Given the description of an element on the screen output the (x, y) to click on. 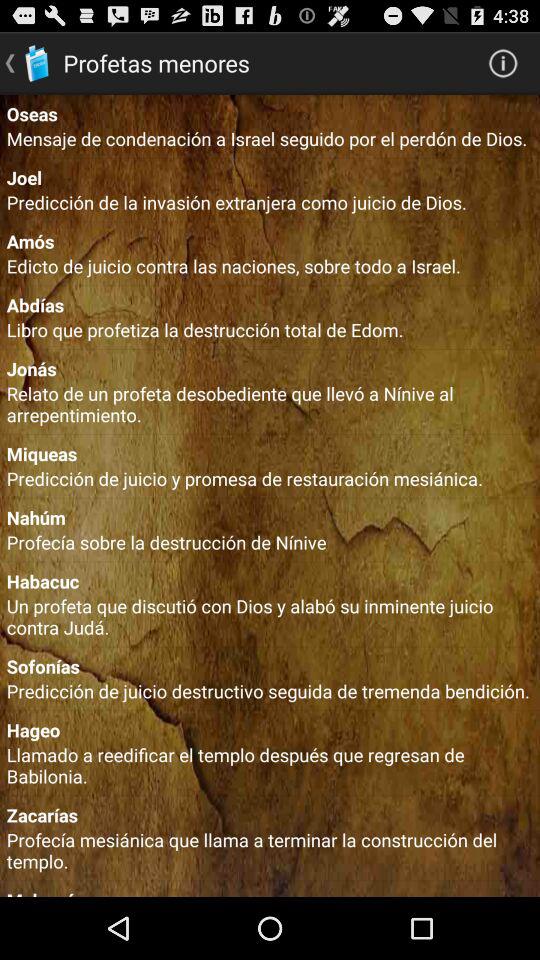
launch oseas icon (269, 113)
